Given the description of an element on the screen output the (x, y) to click on. 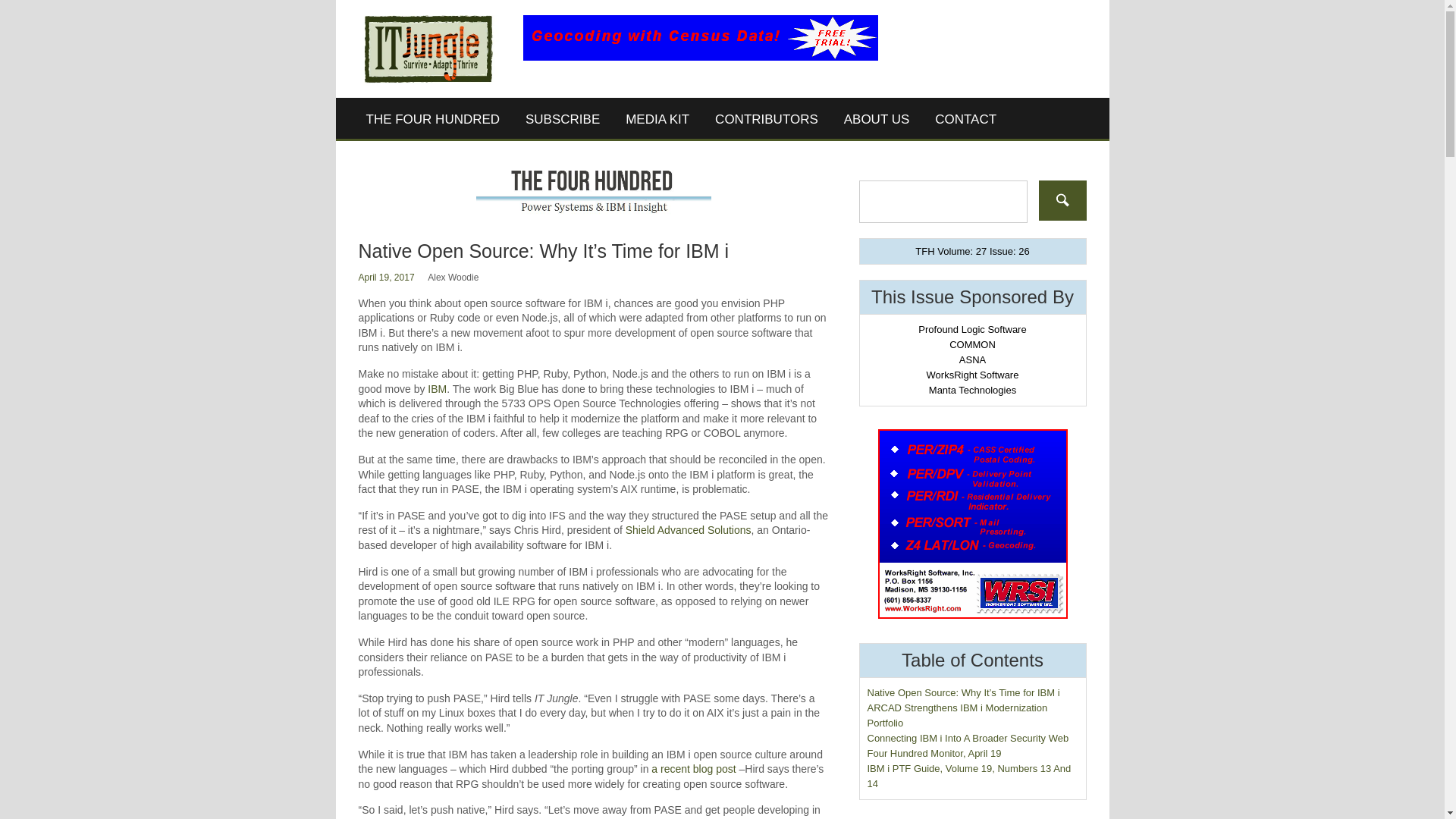
Search (1062, 200)
CONTRIBUTORS (766, 119)
Alex Woodie (453, 276)
Shield Advanced Solutions (688, 530)
a recent blog post (692, 768)
MEDIA KIT (657, 119)
CONTACT (965, 119)
THE FOUR HUNDRED (433, 119)
SUBSCRIBE (562, 119)
Posts by Alex Woodie (453, 276)
ABOUT US (876, 119)
IBM (437, 388)
